Given the description of an element on the screen output the (x, y) to click on. 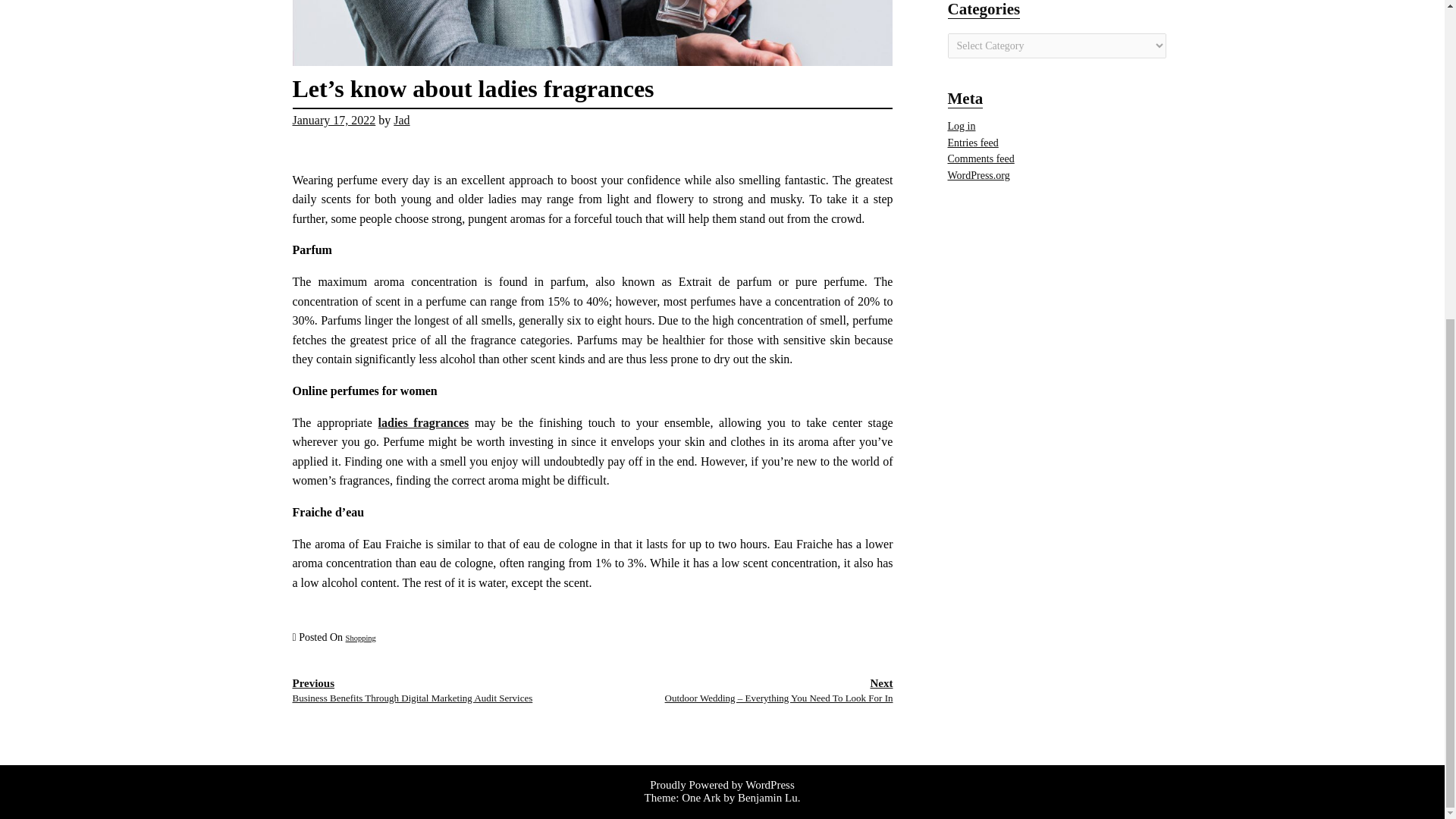
ladies fragrances (423, 422)
January 17, 2022 (333, 119)
Jad (401, 119)
Comments feed (980, 158)
Shopping (360, 637)
Benjamin Lu (767, 797)
WordPress.org (978, 174)
Entries feed (972, 142)
